Given the description of an element on the screen output the (x, y) to click on. 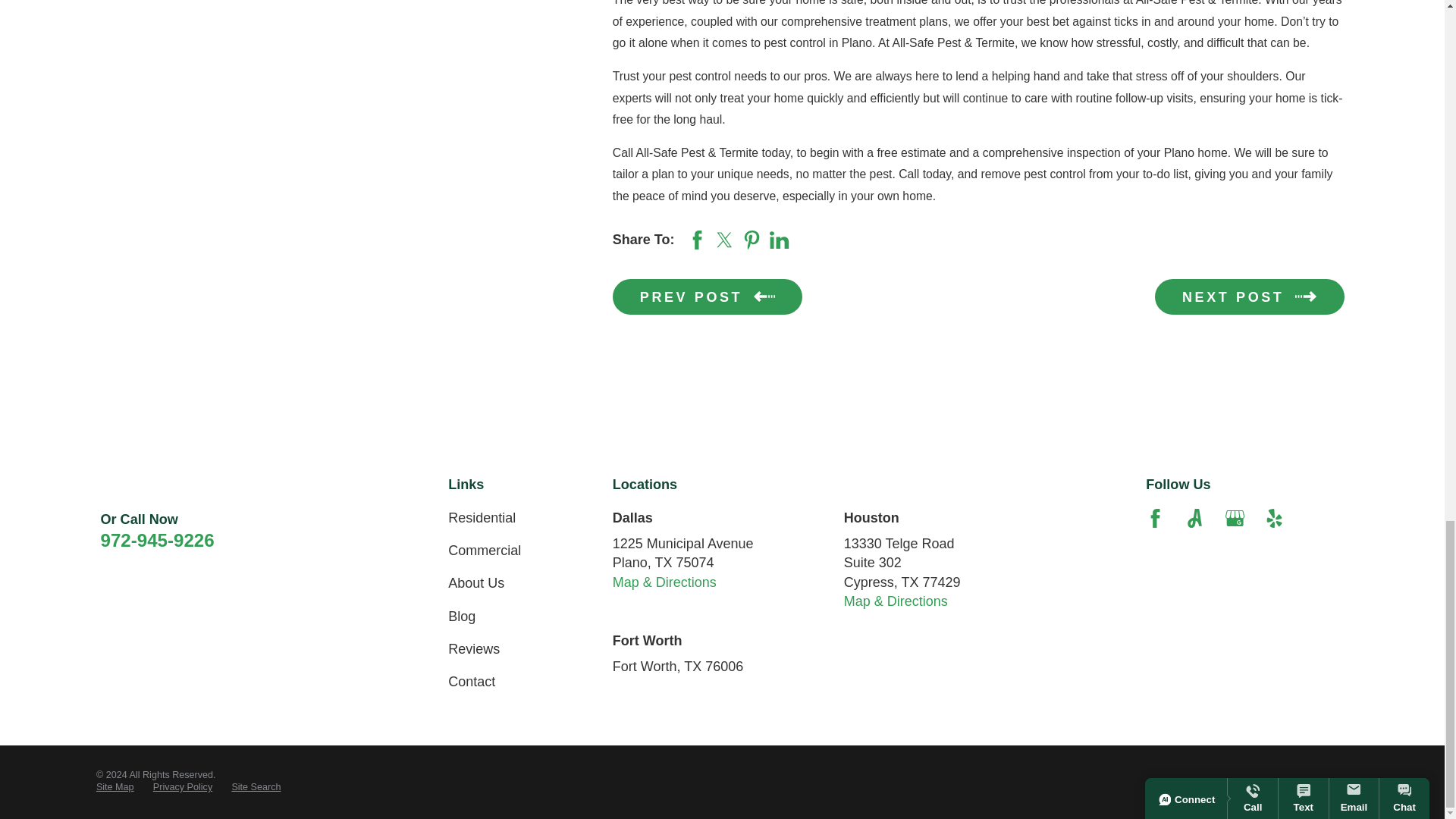
Yelp (1274, 517)
Google Business Profile (1234, 517)
Facebook (1154, 517)
Angie's List (1194, 517)
